Given the description of an element on the screen output the (x, y) to click on. 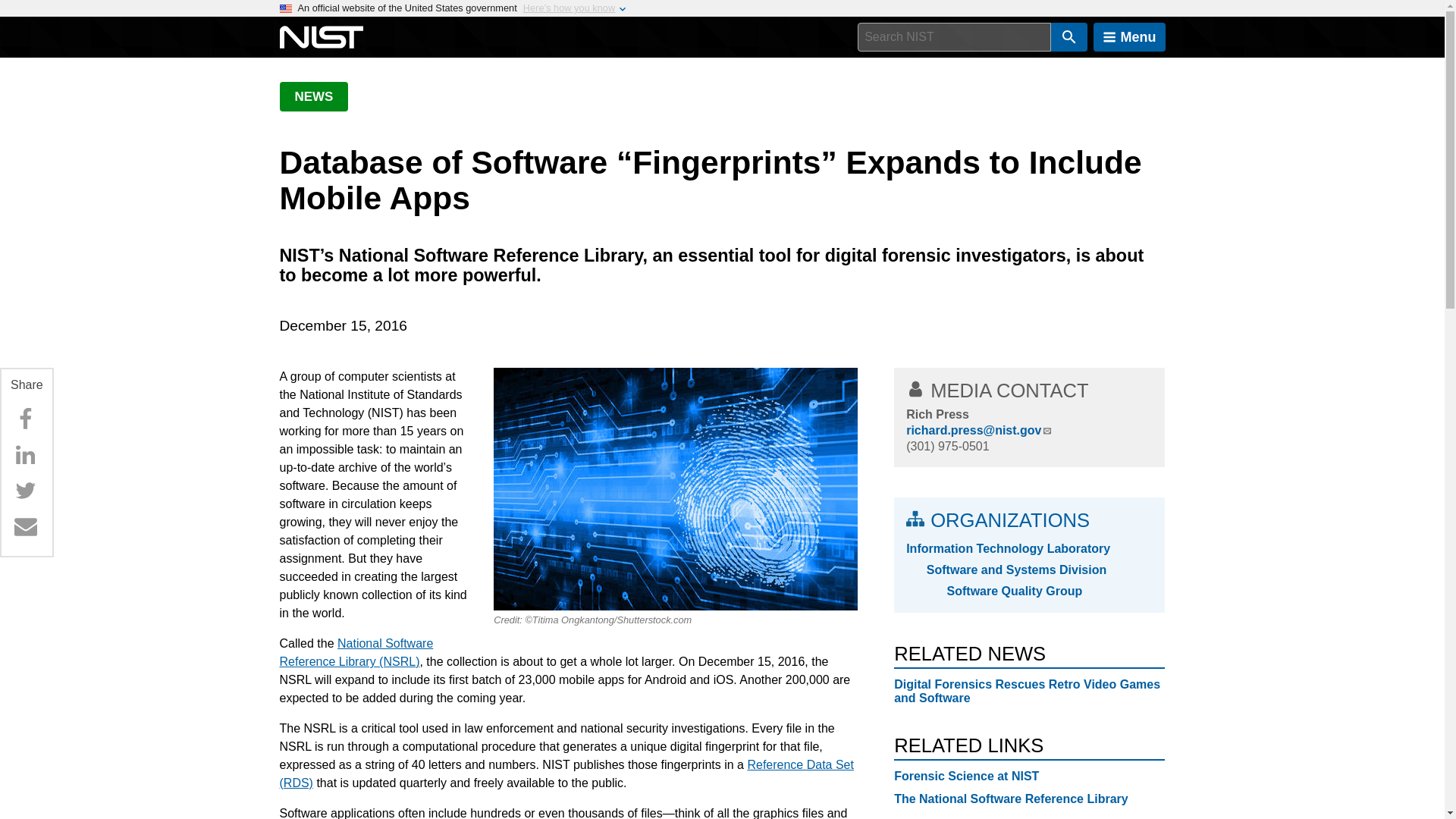
Facebook (25, 419)
Rich Press (937, 413)
Menu (1129, 36)
Email (25, 526)
Software and Systems Division (1039, 570)
The National Software Reference Library (1010, 798)
National Institute of Standards and Technology (320, 36)
NEWS (313, 96)
View staff profile page (937, 413)
Software Quality Group (1050, 591)
Information Technology Laboratory (1029, 548)
NSRL Download (566, 773)
Twitter (25, 490)
Linkedin (25, 454)
